Given the description of an element on the screen output the (x, y) to click on. 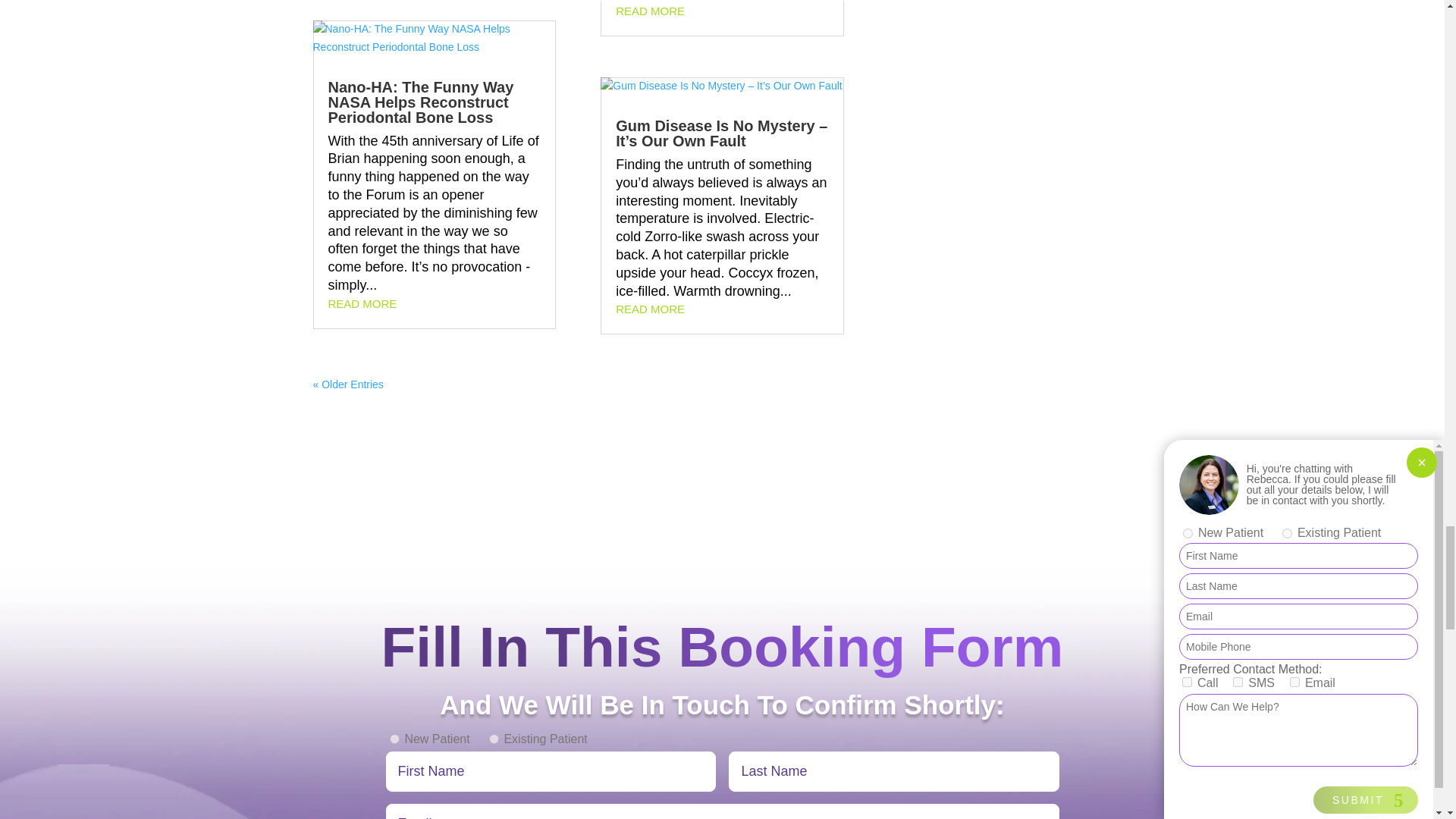
New Patient (394, 738)
